Given the description of an element on the screen output the (x, y) to click on. 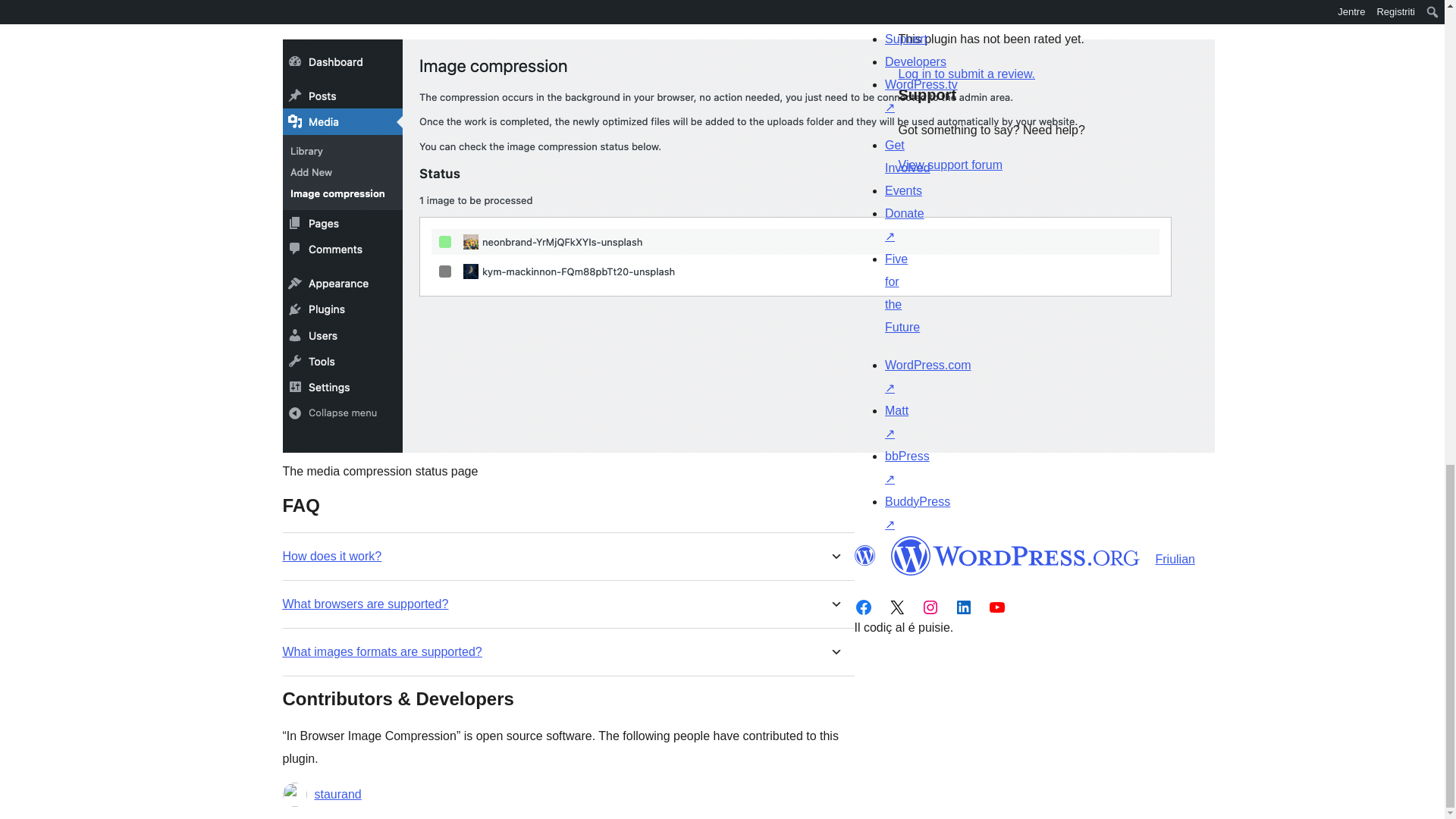
What browsers are supported? (365, 603)
staurand (337, 793)
What images formats are supported? (381, 651)
How does it work? (331, 555)
Log in to WordPress.org (966, 73)
WordPress.org (864, 555)
WordPress.org (1014, 555)
